Given the description of an element on the screen output the (x, y) to click on. 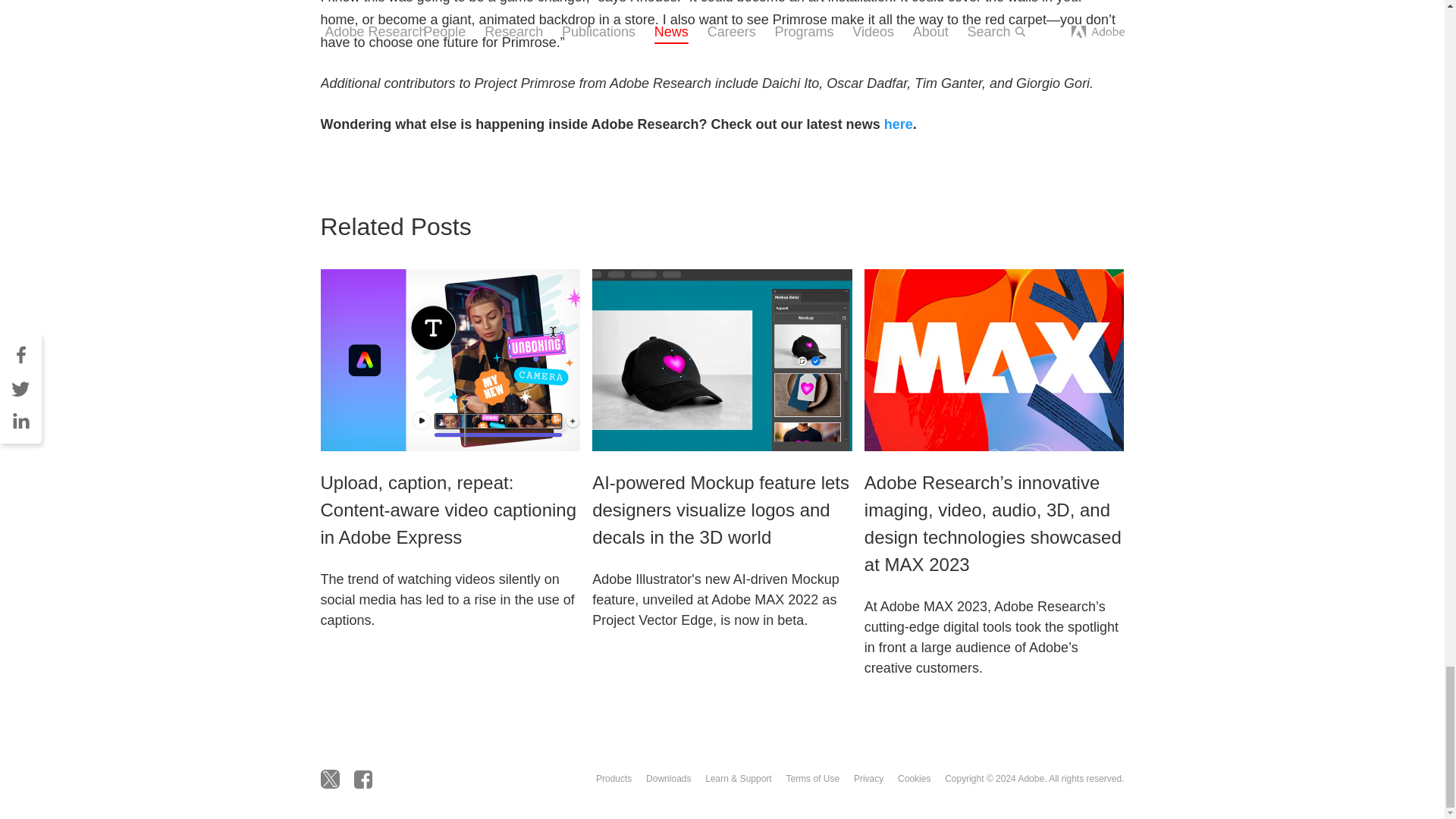
here (897, 123)
Products (613, 777)
